Given the description of an element on the screen output the (x, y) to click on. 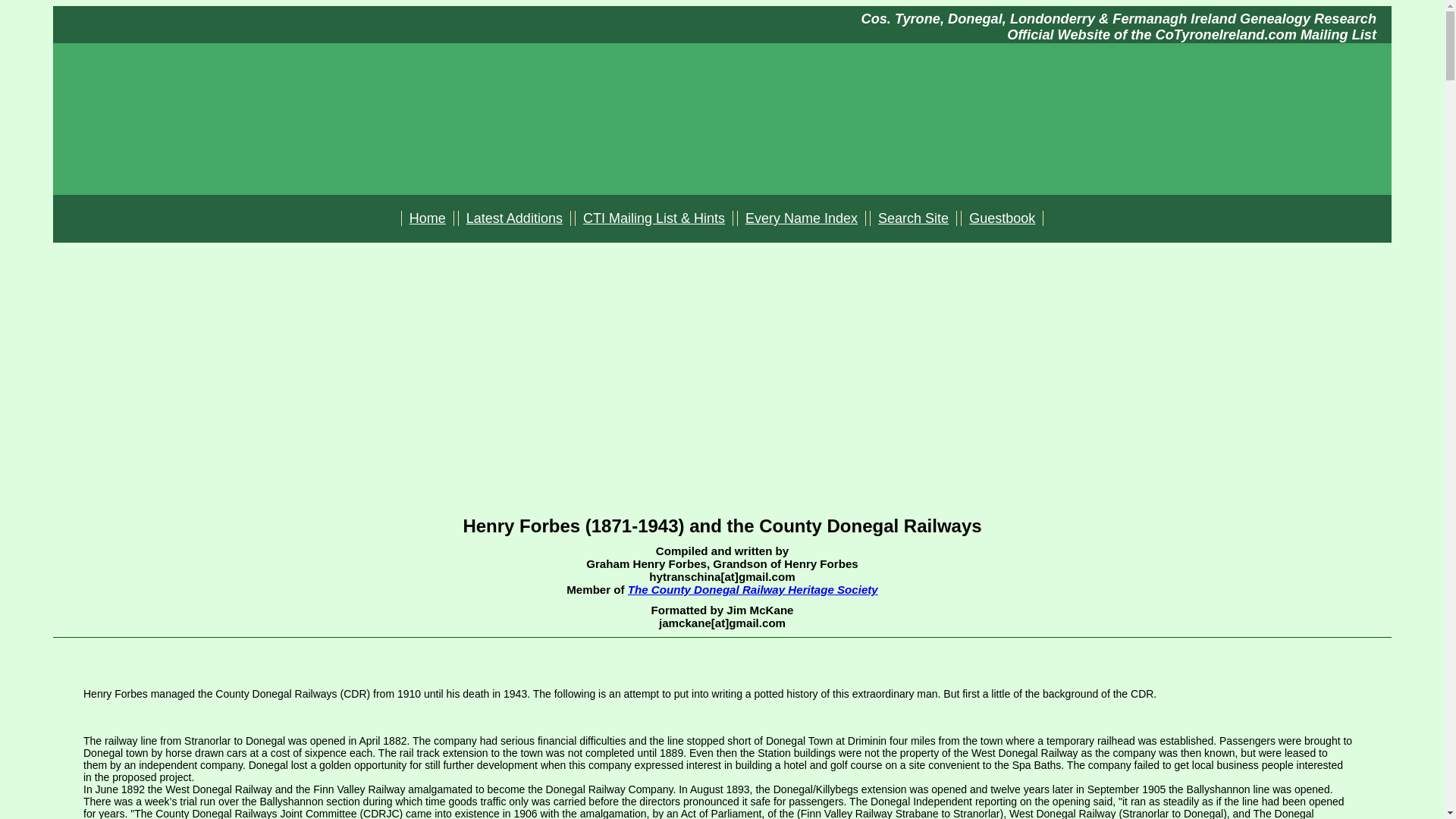
The County Donegal Railway Heritage Society (752, 589)
Guestbook (1001, 218)
Search Site (912, 218)
Home (427, 218)
Every Name Index (801, 218)
Latest Additions (514, 218)
